Given the description of an element on the screen output the (x, y) to click on. 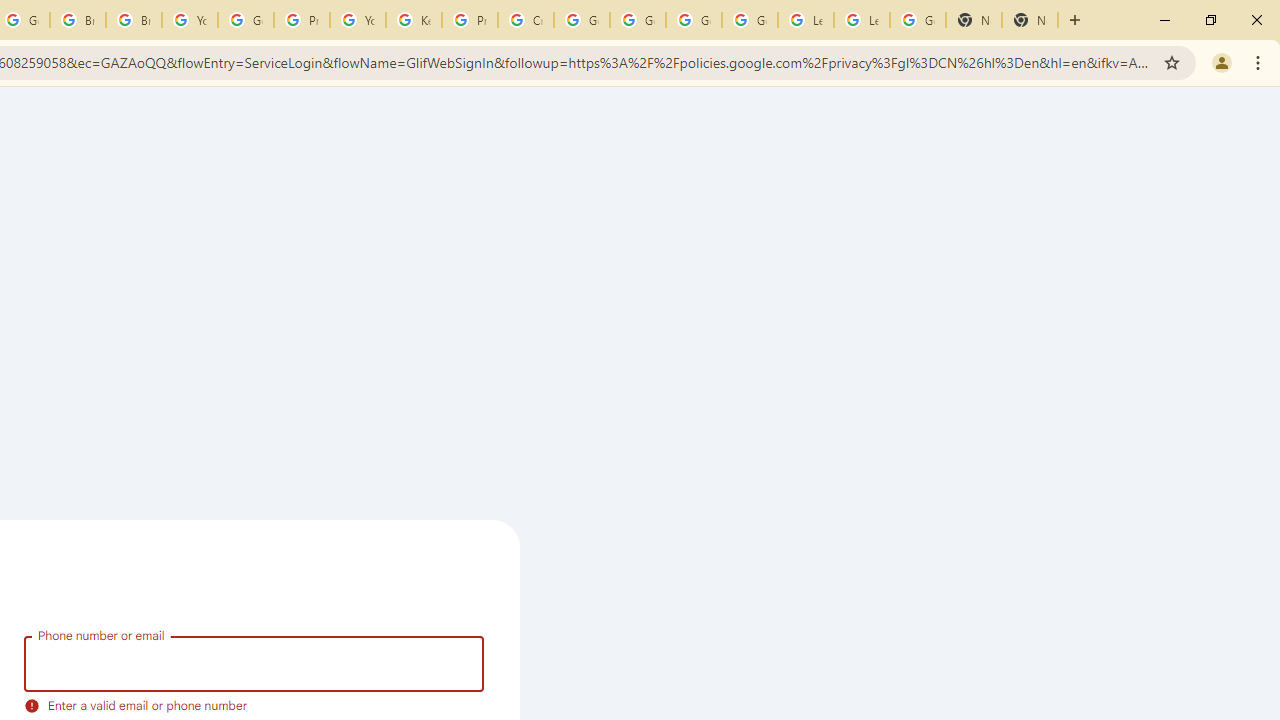
Google Account Help (749, 20)
Phone number or email (253, 663)
Google Account Help (693, 20)
YouTube (189, 20)
Google Account Help (582, 20)
